Given the description of an element on the screen output the (x, y) to click on. 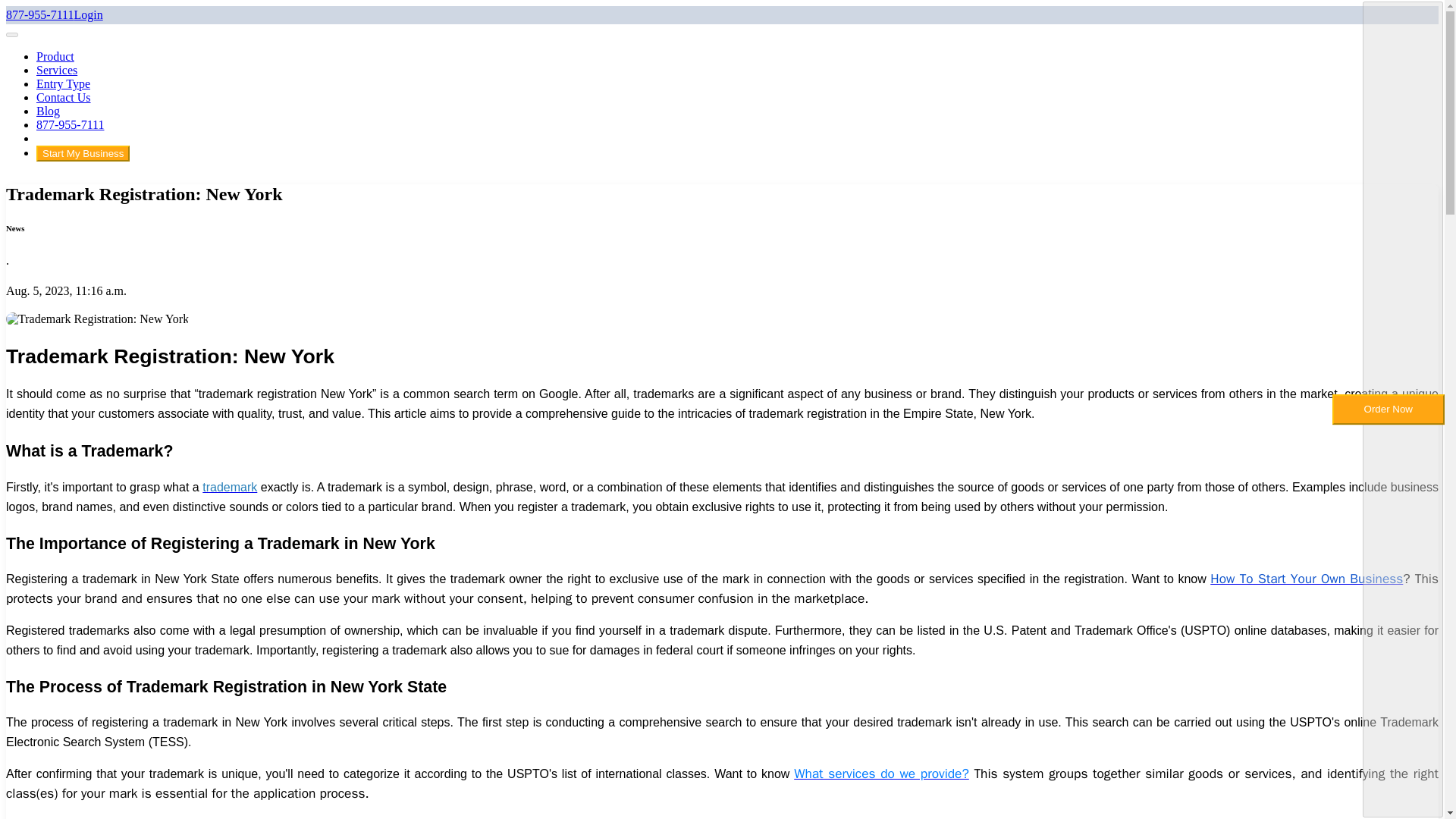
Login (87, 14)
What services do we provide? (881, 773)
Start My Business (82, 153)
Blog (47, 110)
877-955-7111 (69, 124)
Contact Us (63, 97)
How To Start Your Own Business (1306, 578)
Services (56, 69)
Entry Type (63, 83)
877-955-7111 (39, 14)
Product (55, 56)
trademark (229, 486)
